Given the description of an element on the screen output the (x, y) to click on. 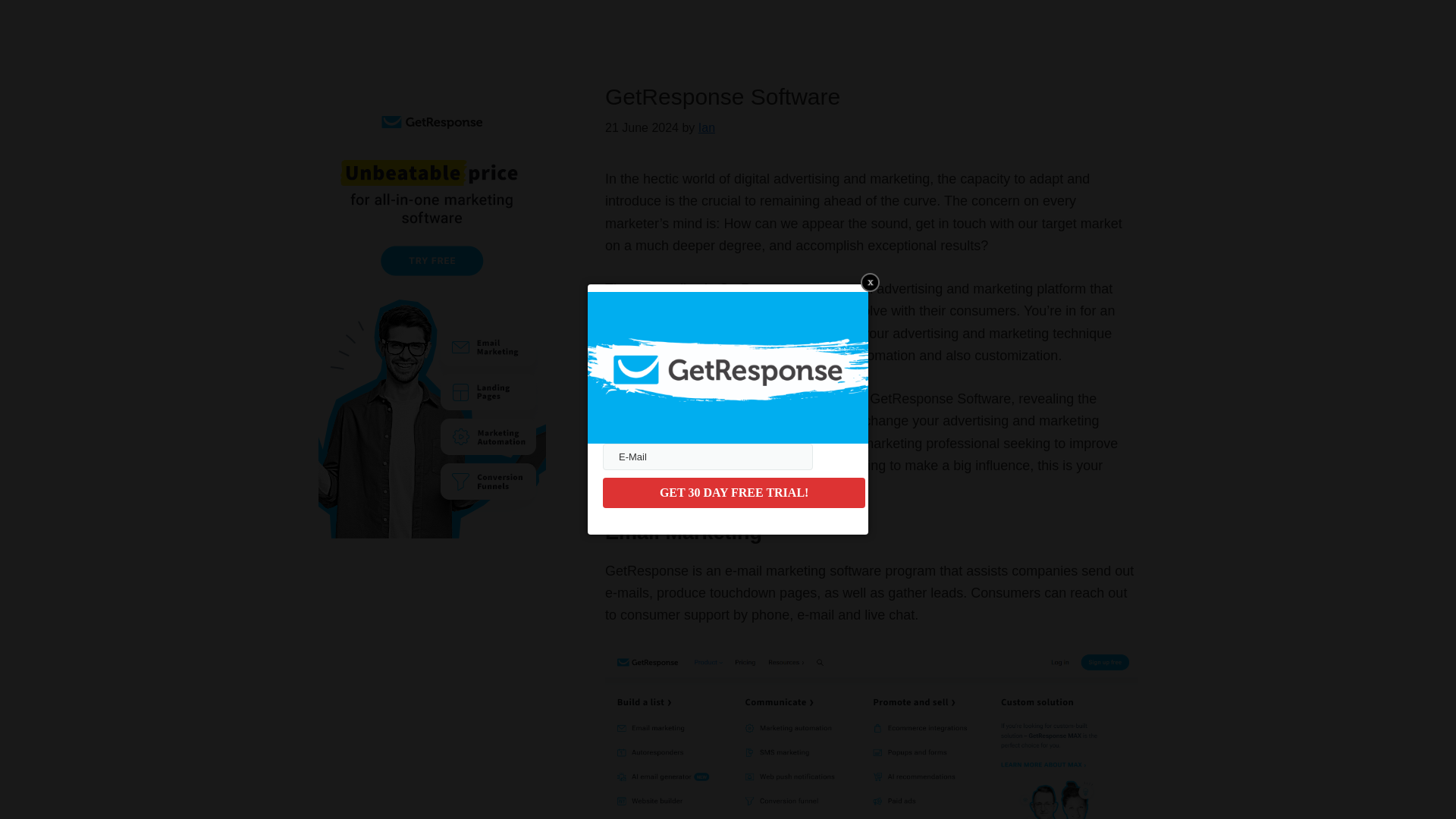
GET 30 DAY FREE TRIAL! (733, 492)
GET 30 DAY FREE TRIAL! (733, 492)
Ian (706, 127)
